Given the description of an element on the screen output the (x, y) to click on. 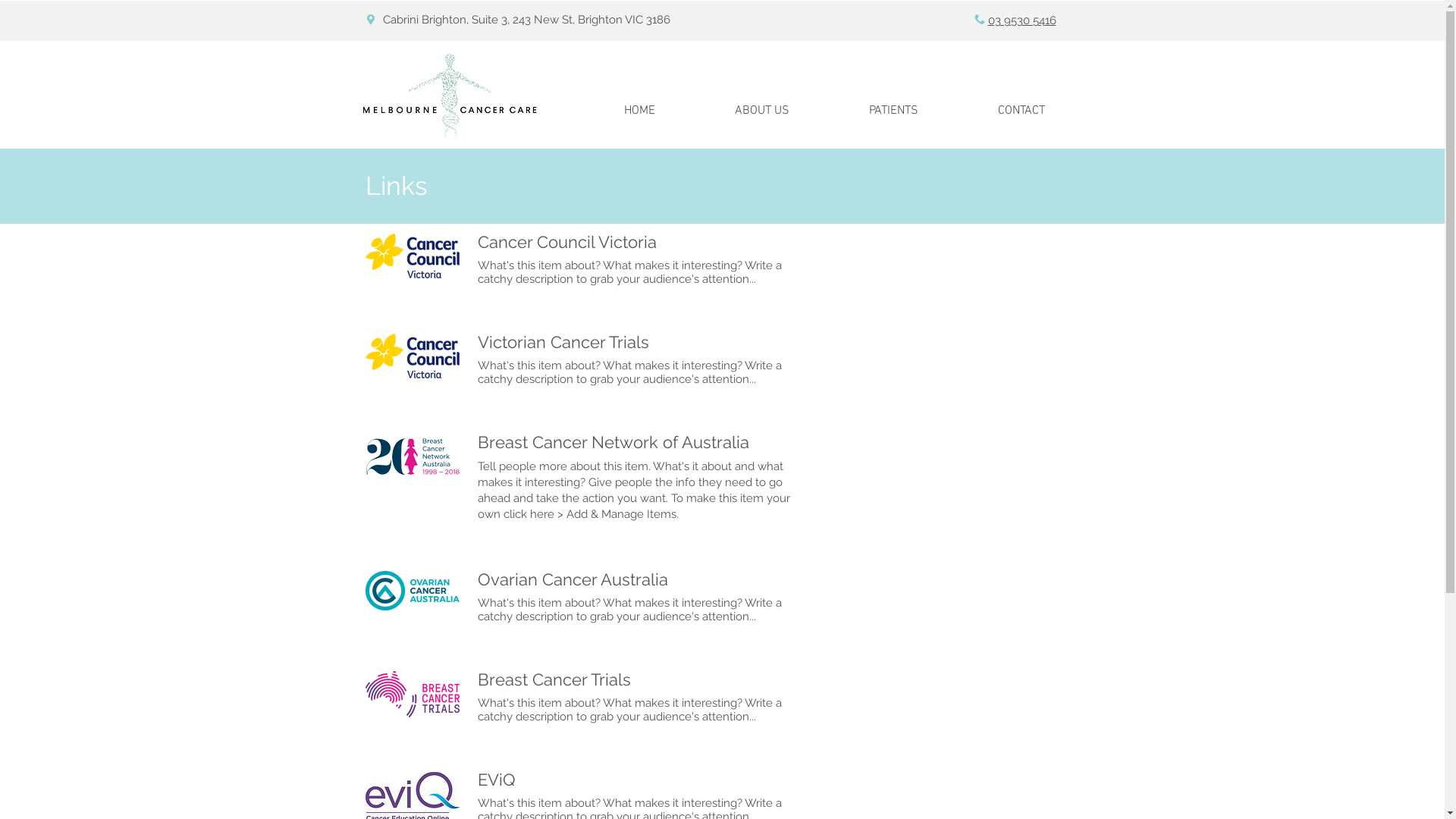
CONTACT Element type: text (1021, 111)
03 9530 5416 Element type: text (1021, 20)
Ovarian-Cancer-Australia_Brandmark_RGB-300x126.png Element type: hover (412, 590)
ABOUT US Element type: text (761, 111)
logo.png Element type: hover (412, 356)
PATIENTS Element type: text (893, 111)
logo.png Element type: hover (412, 256)
bcna-logo-20years140x298.png Element type: hover (412, 455)
bct.0aea69810f10fb834e92cbf5ad357478.png Element type: hover (412, 694)
HOME Element type: text (638, 111)
